Given the description of an element on the screen output the (x, y) to click on. 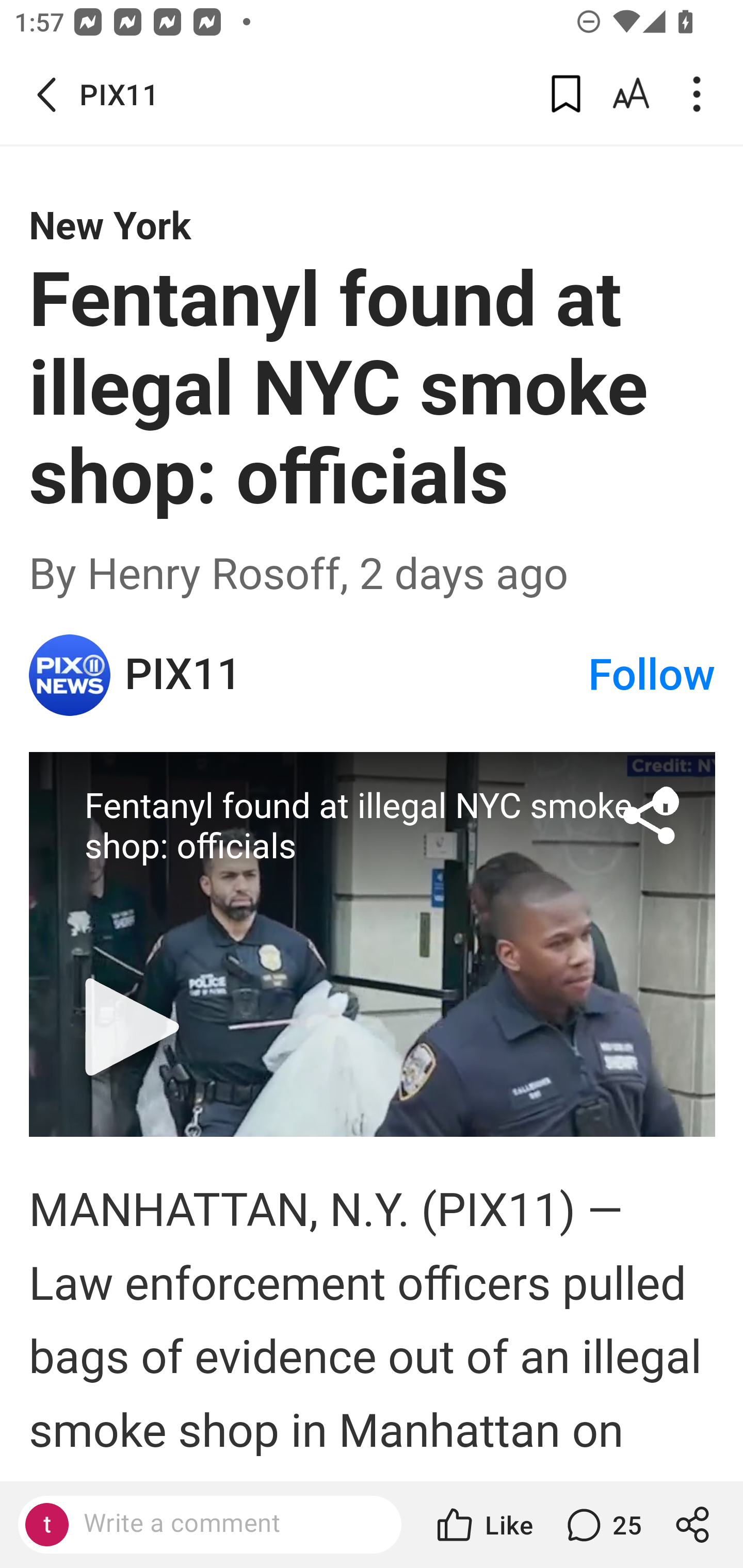
PIX11 (70, 674)
PIX11 (355, 674)
Follow (651, 674)
Like (483, 1524)
25 (601, 1524)
Write a comment (209, 1524)
Write a comment (226, 1523)
